Given the description of an element on the screen output the (x, y) to click on. 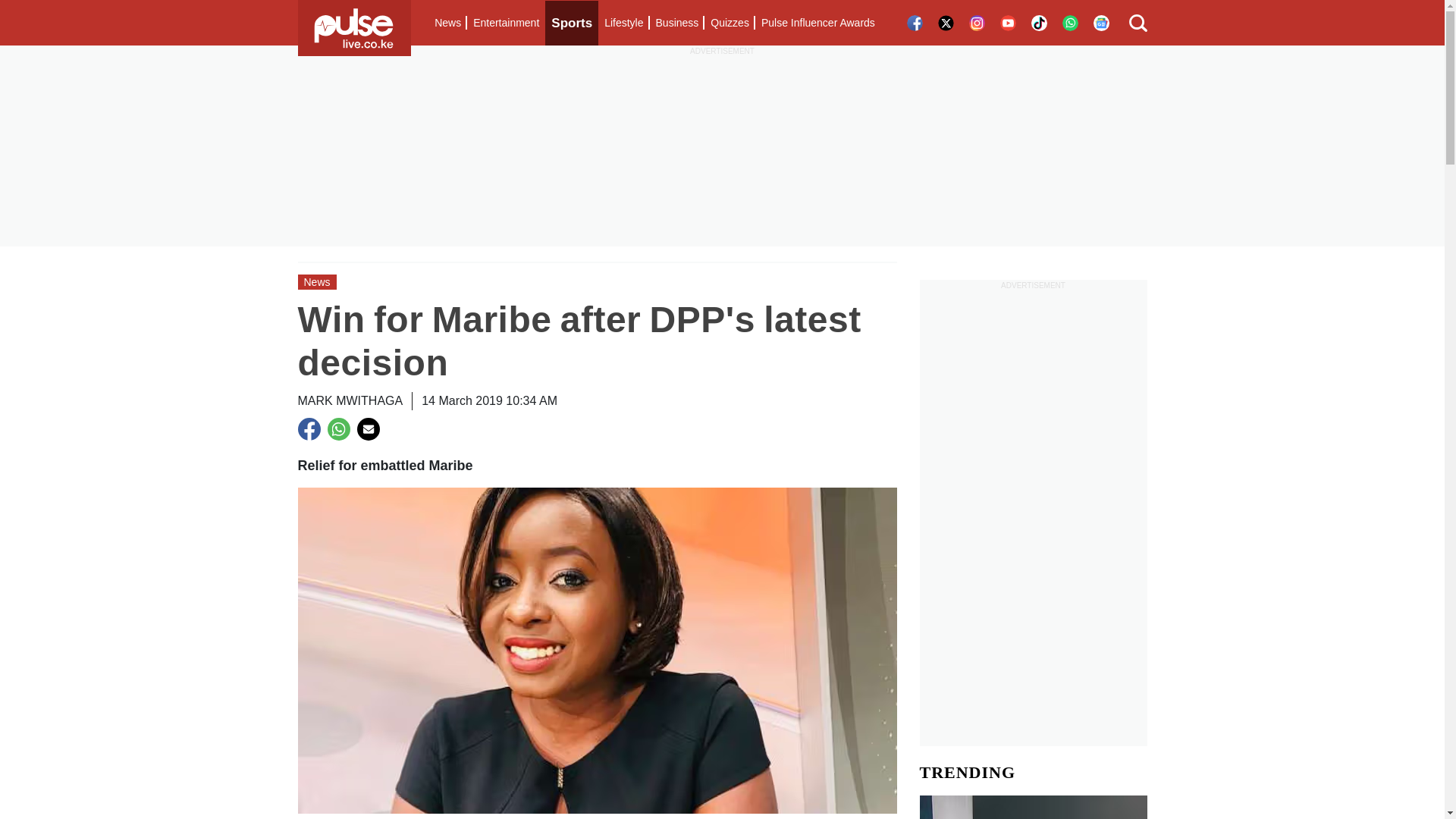
Quizzes (729, 22)
Sports (571, 22)
Business (676, 22)
Pulse Influencer Awards (817, 22)
Entertainment (505, 22)
Lifestyle (623, 22)
